Given the description of an element on the screen output the (x, y) to click on. 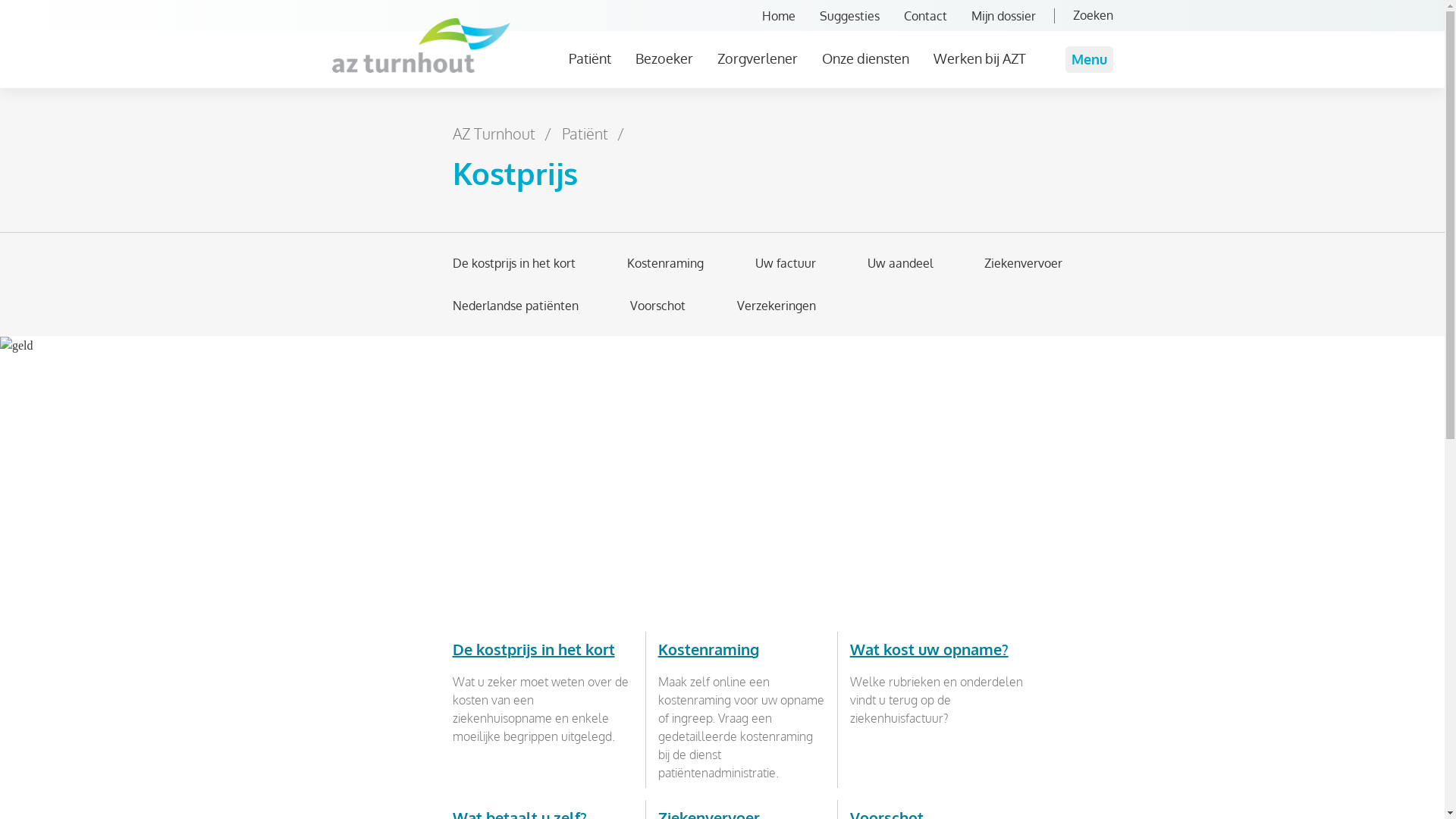
Kwaliteitsvolle zorg Element type: text (628, 94)
Contact Element type: text (816, 94)
Over AZT Element type: text (740, 94)
Agenda Element type: text (957, 94)
Ziekenvervoer Element type: text (1023, 262)
Nieuws Element type: text (888, 94)
Zorgverlener Element type: text (757, 58)
Suggesties Element type: text (848, 15)
Kostprijs - AZ Turnhout Element type: text (421, 45)
Contact Element type: text (925, 15)
Menu Element type: text (1088, 59)
Home Element type: text (777, 15)
AZ Turnhout Element type: text (492, 133)
Uw aandeel Element type: text (900, 262)
Zoeken Element type: text (1092, 14)
Skip to main navigation Element type: text (0, 87)
Bezoeker Element type: text (664, 58)
Wat kost uw opname? Element type: text (938, 648)
De kostprijs in het kort Element type: text (541, 648)
Kostenraming Element type: text (717, 648)
Verzekeringen Element type: text (776, 305)
Kostenraming Element type: text (664, 262)
Uw factuur Element type: text (785, 262)
De kostprijs in het kort Element type: text (513, 262)
Voorschot Element type: text (657, 305)
Onze diensten Element type: text (865, 58)
Mijn dossier Element type: text (1012, 15)
Werken bij AZT Element type: text (978, 58)
